Given the description of an element on the screen output the (x, y) to click on. 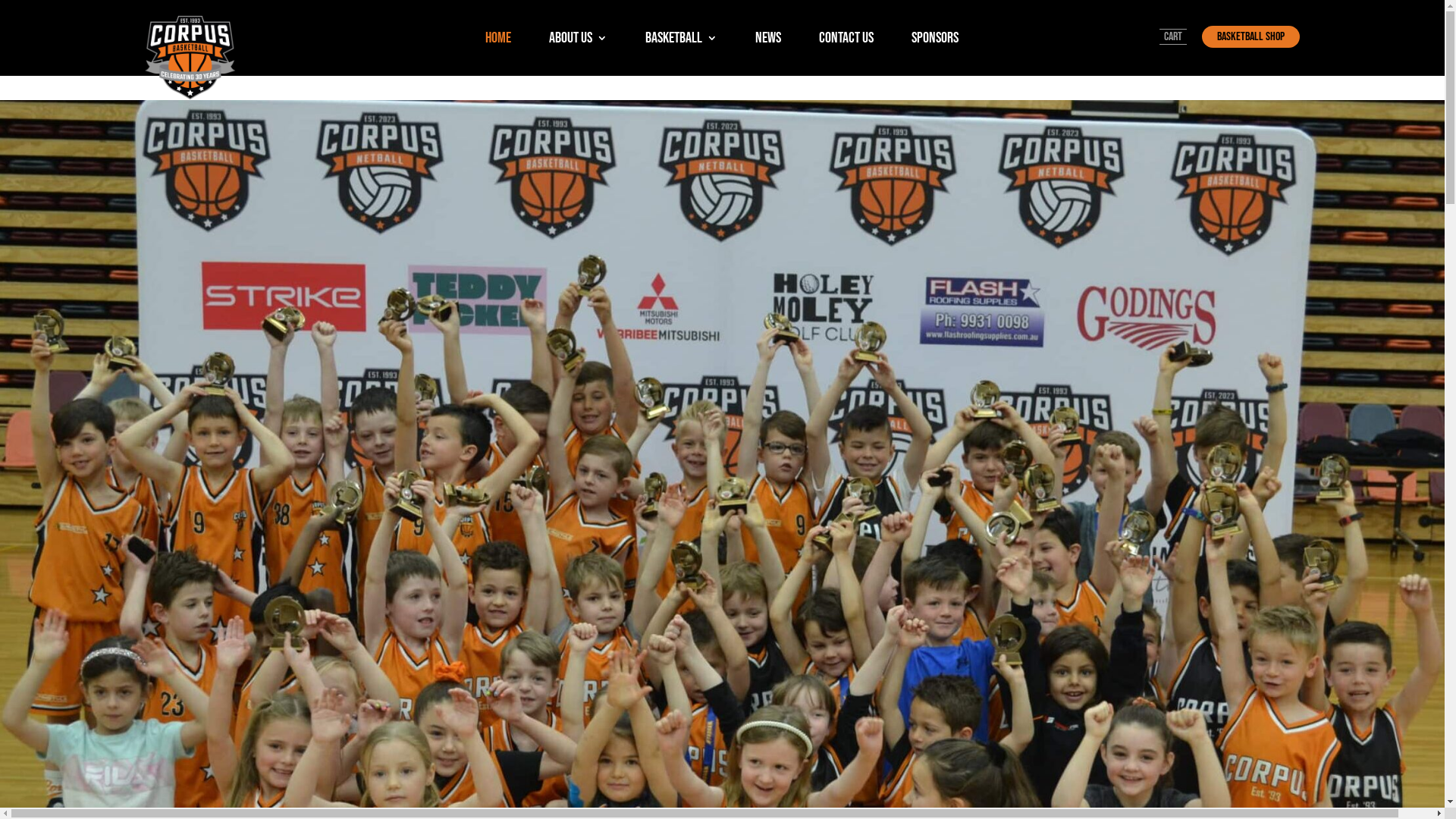
NEWS Element type: text (768, 40)
CORPUS-BASKETBALL-LOGO-30-YEARS Element type: hover (189, 57)
BASKETBALL SHOP Element type: text (1250, 36)
ABOUT US Element type: text (578, 40)
CONTACT US Element type: text (846, 40)
  CART   Element type: text (1172, 36)
SPONSORS Element type: text (934, 40)
HOME Element type: text (498, 40)
BASKETBALL Element type: text (681, 40)
